Given the description of an element on the screen output the (x, y) to click on. 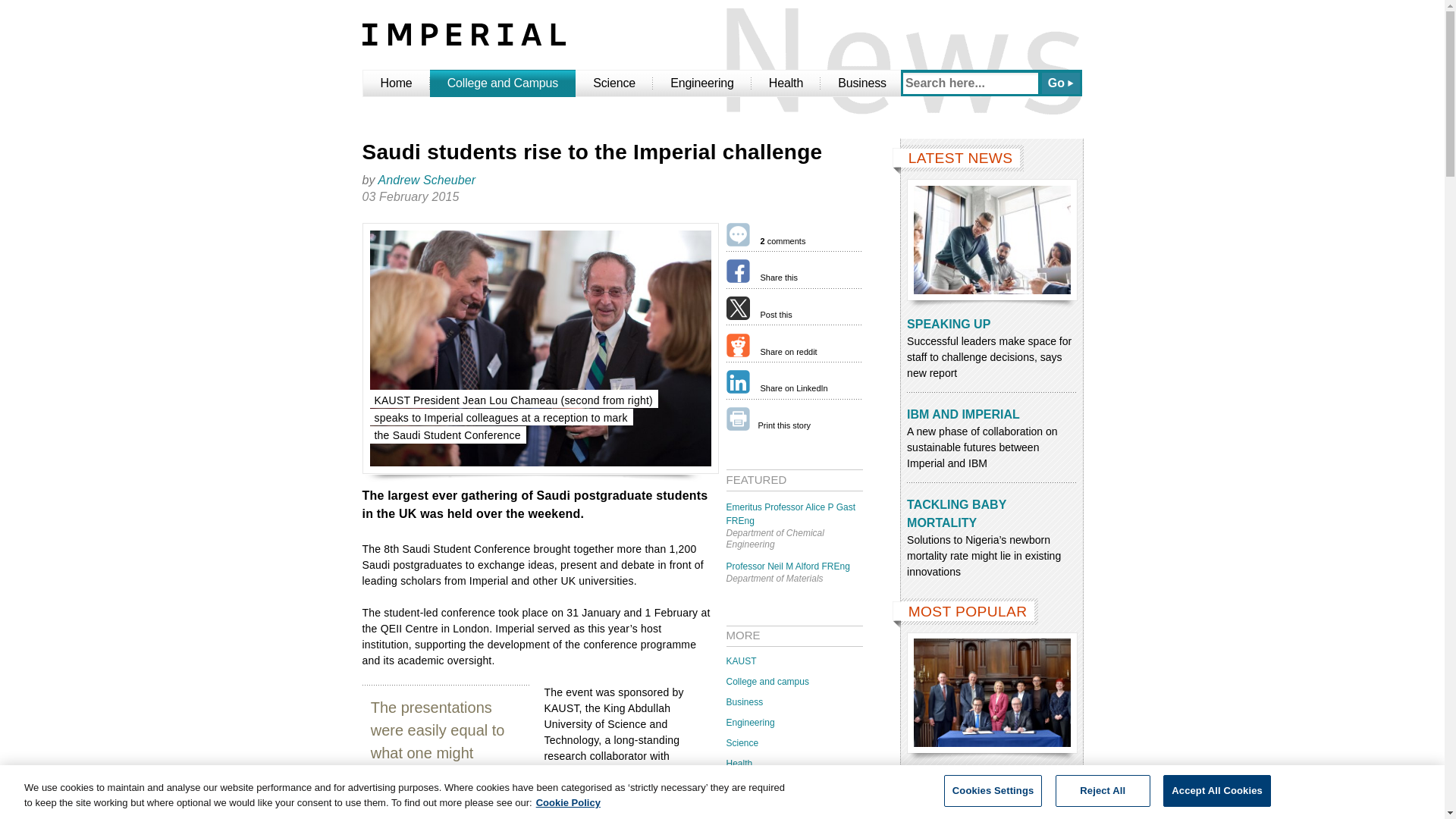
Andrew Scheuber (427, 179)
Home (395, 83)
Science (613, 83)
College and Campus (502, 83)
